Given the description of an element on the screen output the (x, y) to click on. 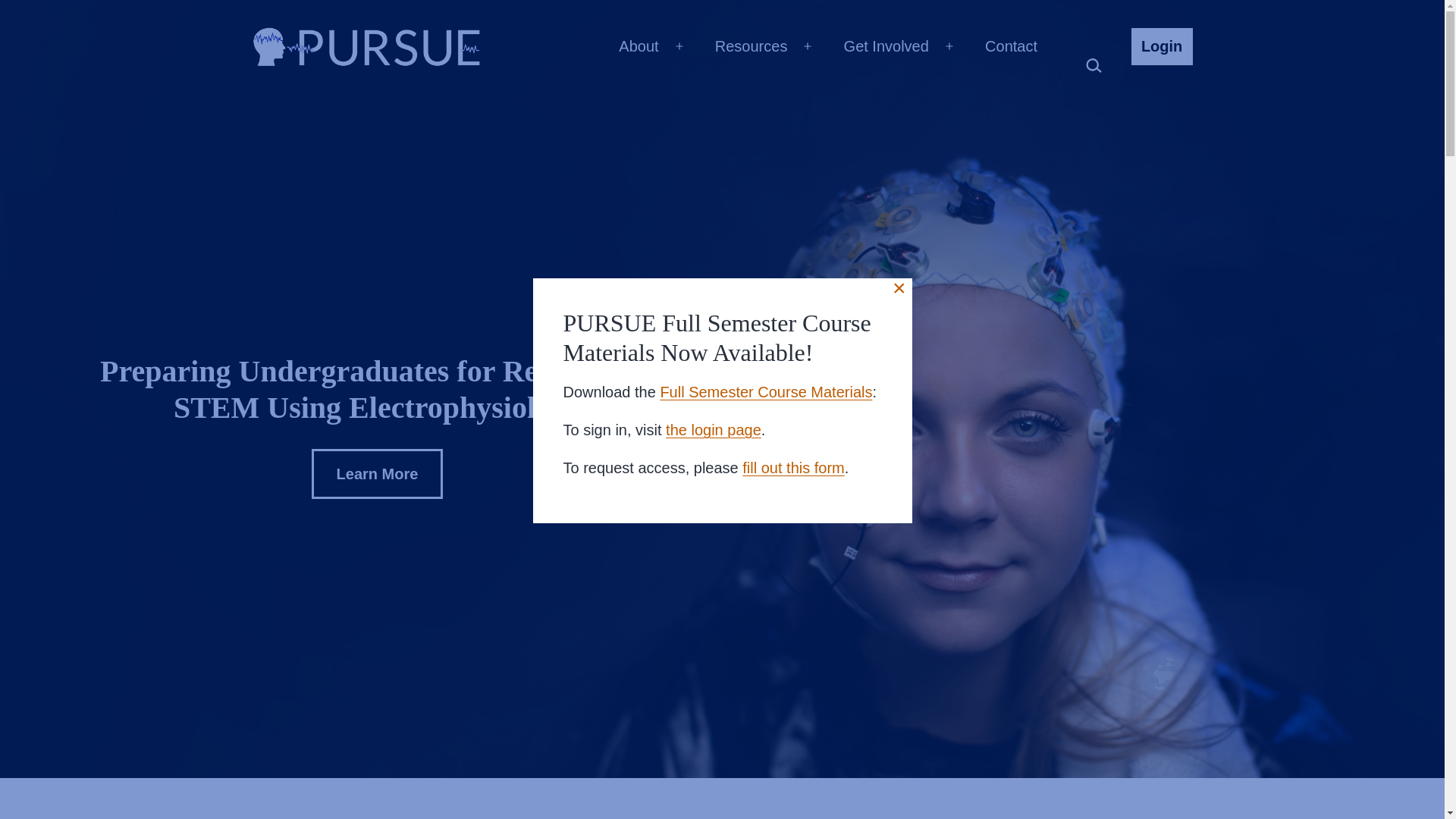
Get Involved (885, 46)
Resources (750, 46)
Contact (1010, 46)
About (638, 46)
Learn More (377, 473)
Login (1161, 46)
